Given the description of an element on the screen output the (x, y) to click on. 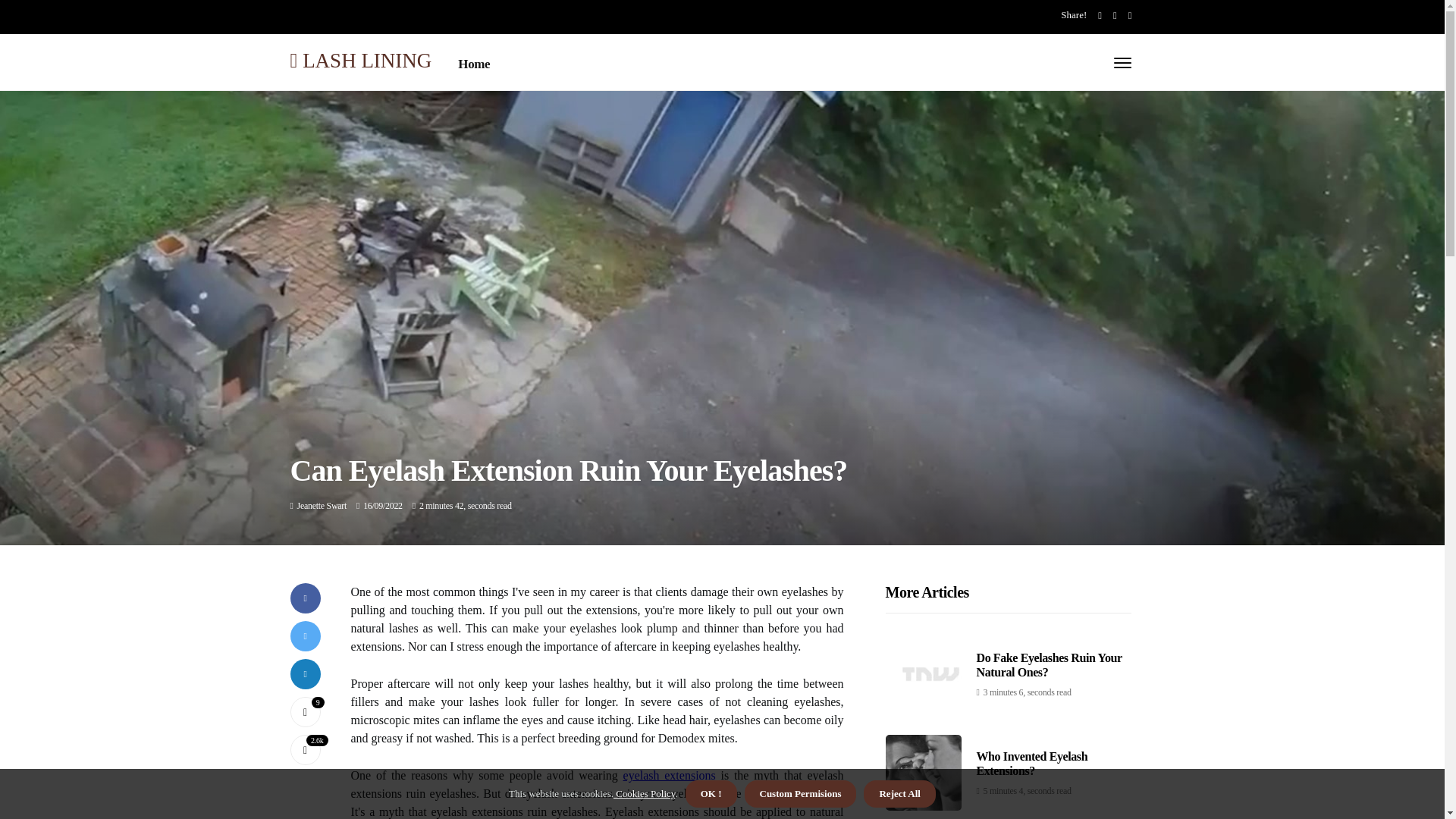
9 (304, 711)
Posts by Jeanette Swart (321, 505)
Like (304, 711)
eyelash extensions (669, 775)
Jeanette Swart (321, 505)
Do Fake Eyelashes Ruin Your Natural Ones? (1049, 664)
Who Invented Eyelash Extensions? (1031, 763)
LASH LINING (359, 59)
